Given the description of an element on the screen output the (x, y) to click on. 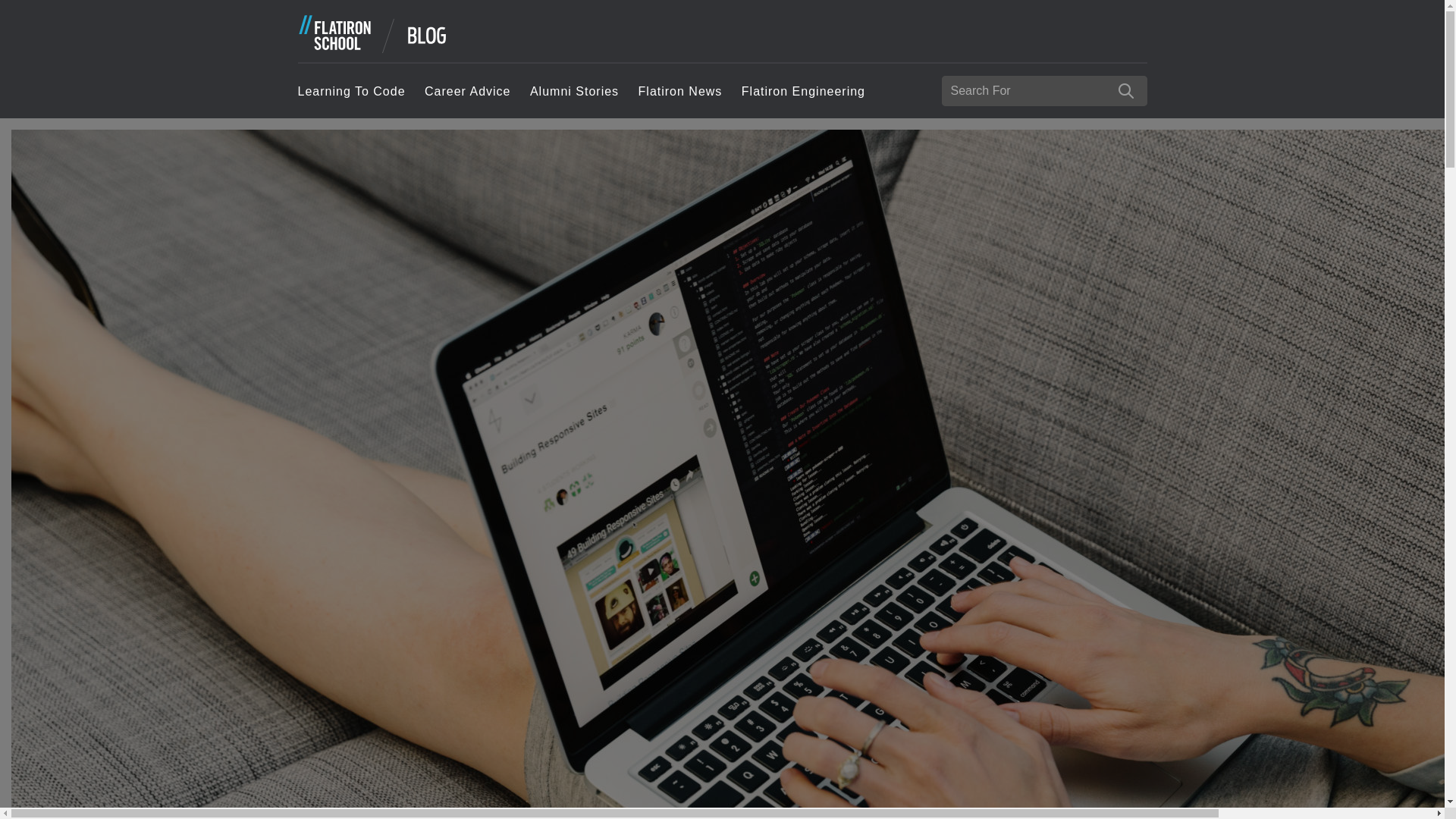
Search (1125, 91)
Flatiron News (680, 91)
Learning To Code (350, 91)
Career Advice (468, 91)
Search (1125, 91)
Alumni Stories (573, 91)
Search (1125, 91)
Flatiron Engineering (802, 91)
